Given the description of an element on the screen output the (x, y) to click on. 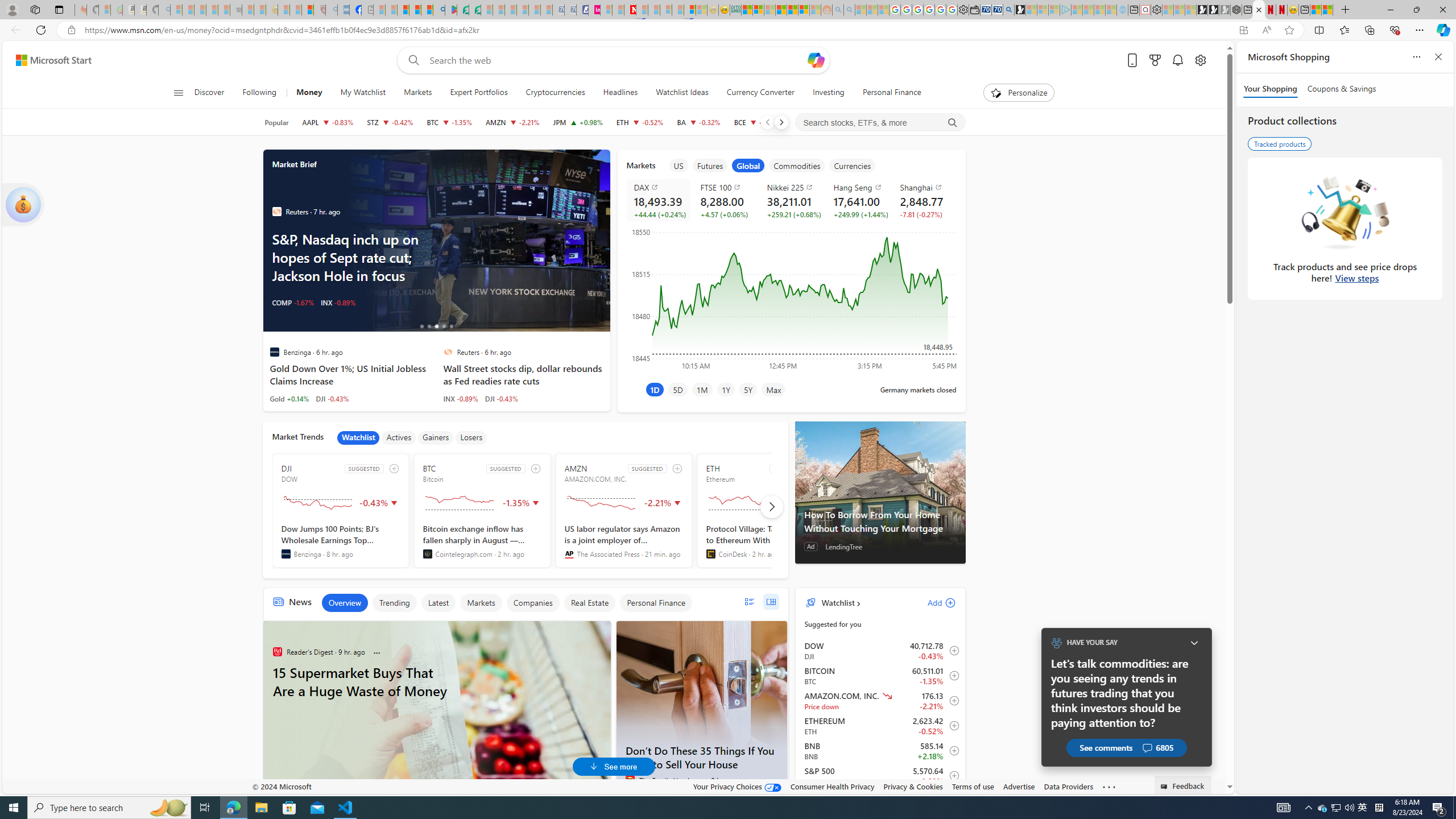
Advertise (1019, 785)
Home | Sky Blue Bikes - Sky Blue Bikes - Sleeping (1122, 9)
Microsoft Word - consumer-privacy address update 2.2021 (475, 9)
Class: oneFooter_seeMore-DS-EntryPoint1-1 (1108, 786)
Play Free Online Games | Games from Microsoft Start (1201, 9)
BTC Bitcoin decrease 60,511.01 -814.48 -1.35% (449, 122)
Cheap Car Rentals - Save70.com (997, 9)
Expert Portfolios (478, 92)
list layout (749, 601)
ETH Ethereum decrease 2,623.42 -13.69 -0.52% (639, 122)
FTSE 100 (727, 187)
